Given the description of an element on the screen output the (x, y) to click on. 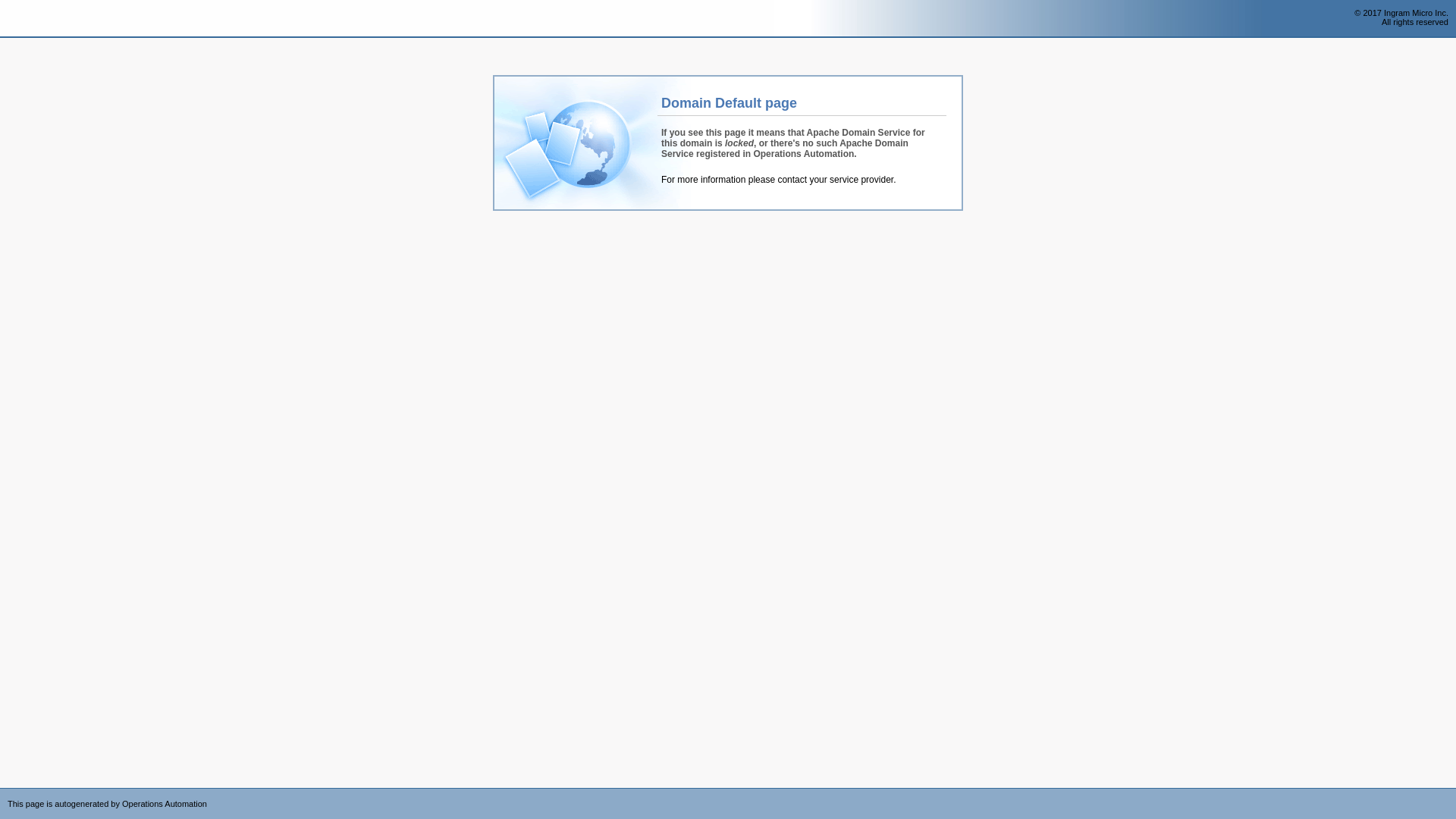
Operations Automation Element type: text (39, 18)
Powered by CloudBlue Commerce Element type: hover (1447, 792)
